Given the description of an element on the screen output the (x, y) to click on. 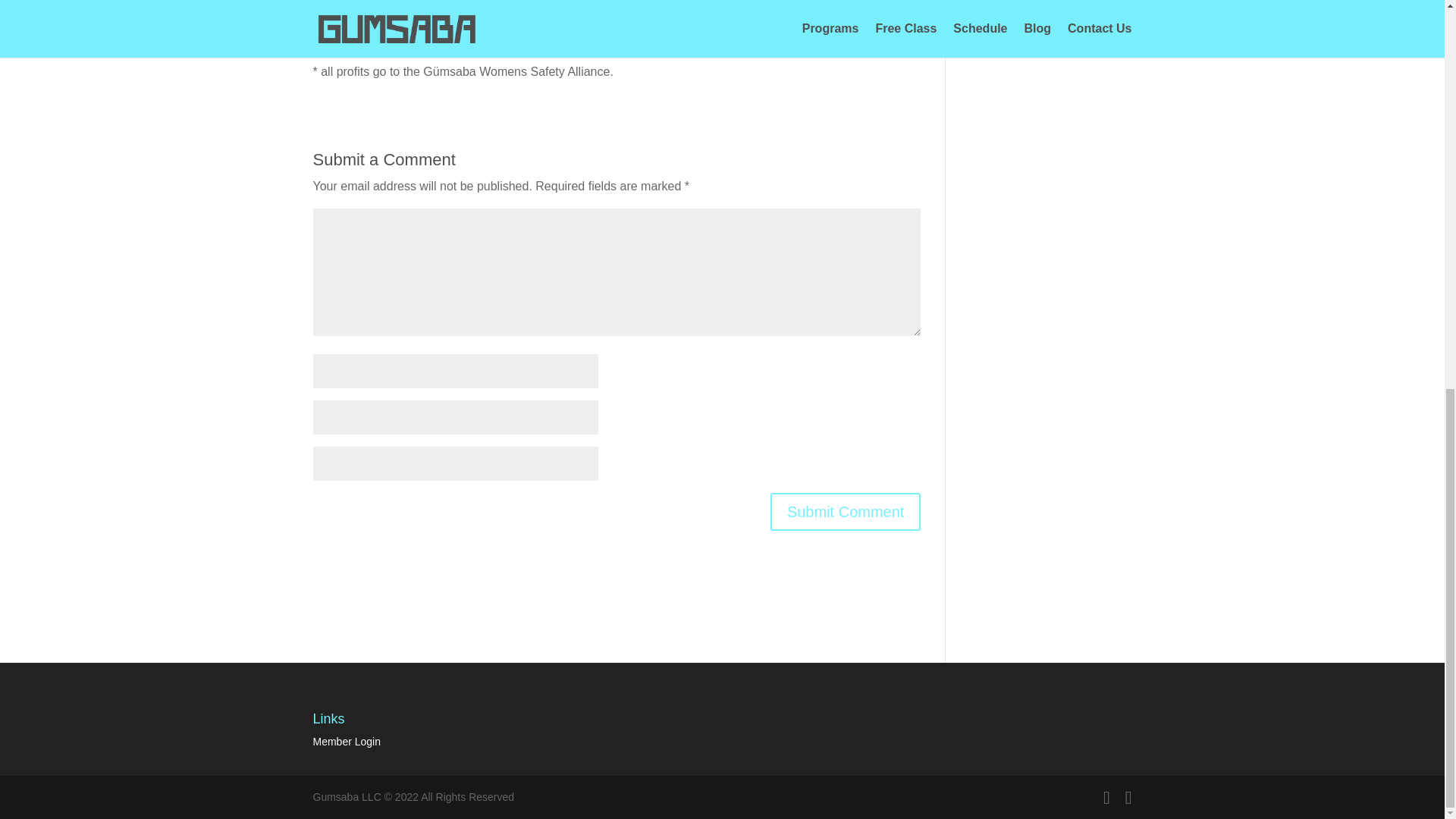
Submit Comment (845, 511)
Member Login (346, 741)
Submit Comment (845, 511)
